Given the description of an element on the screen output the (x, y) to click on. 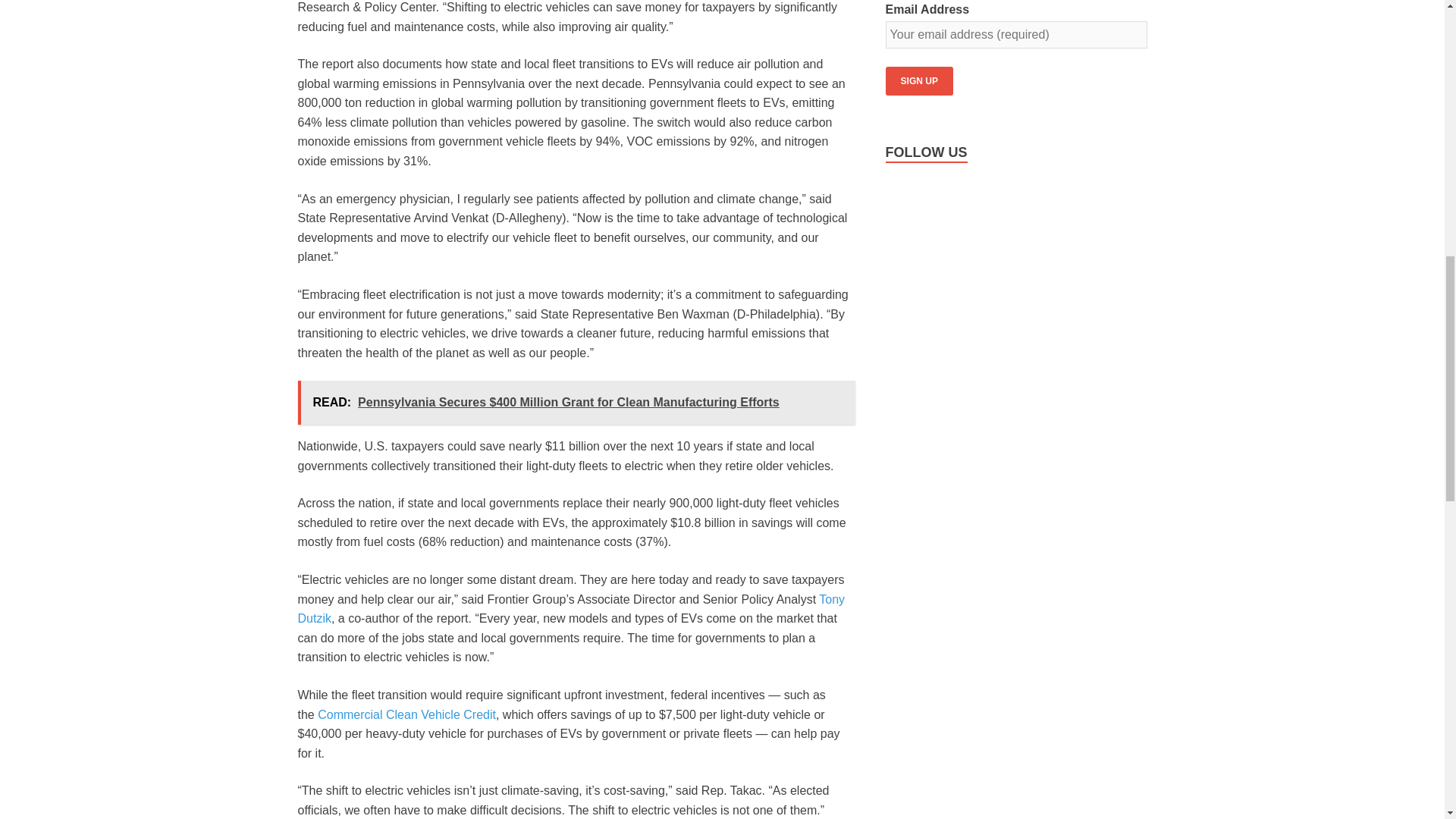
Sign up (919, 80)
